Given the description of an element on the screen output the (x, y) to click on. 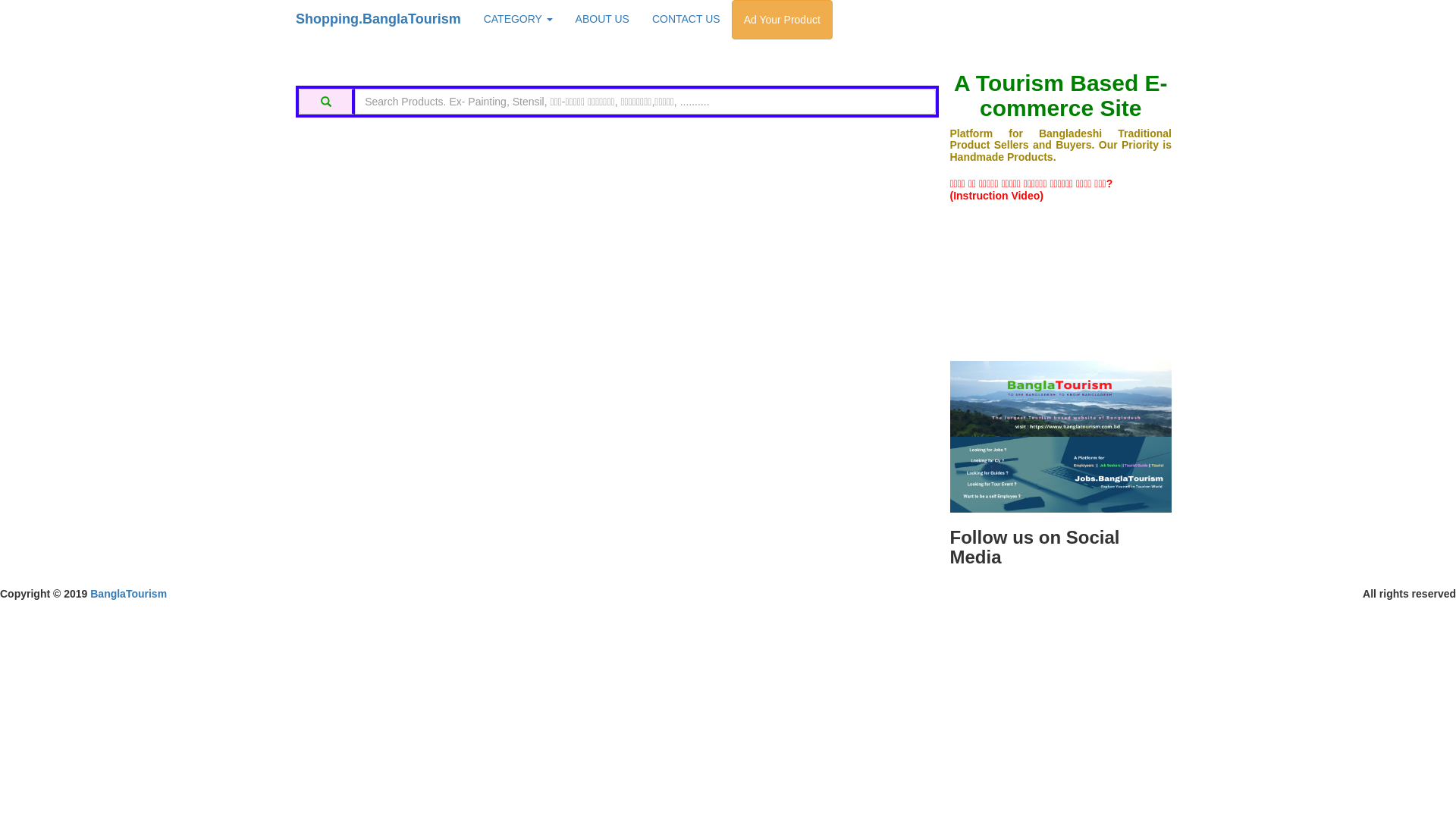
BanglaTourism Element type: text (128, 593)
Shopping.BanglaTourism Element type: text (378, 18)
CONTACT US Element type: text (685, 18)
CATEGORY Element type: text (518, 18)
ABOUT US Element type: text (602, 18)
Ad Your Product Element type: text (781, 19)
